Given the description of an element on the screen output the (x, y) to click on. 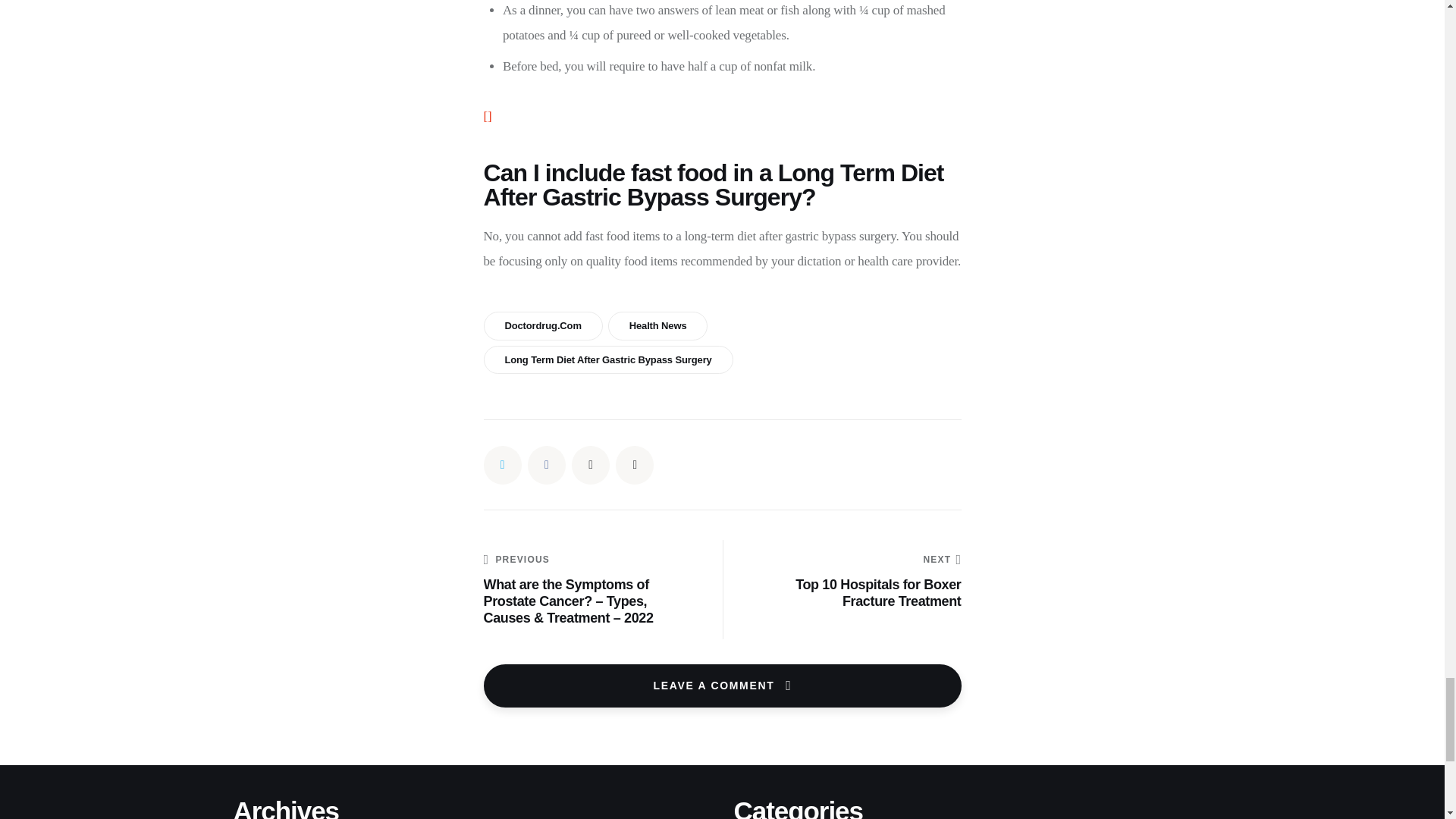
Long Term Diet After Gastric Bypass Surgery (608, 359)
Health News (657, 326)
Doctordrug.Com (542, 326)
LEAVE A COMMENT (721, 685)
Copy URL to clipboard (852, 581)
